Given the description of an element on the screen output the (x, y) to click on. 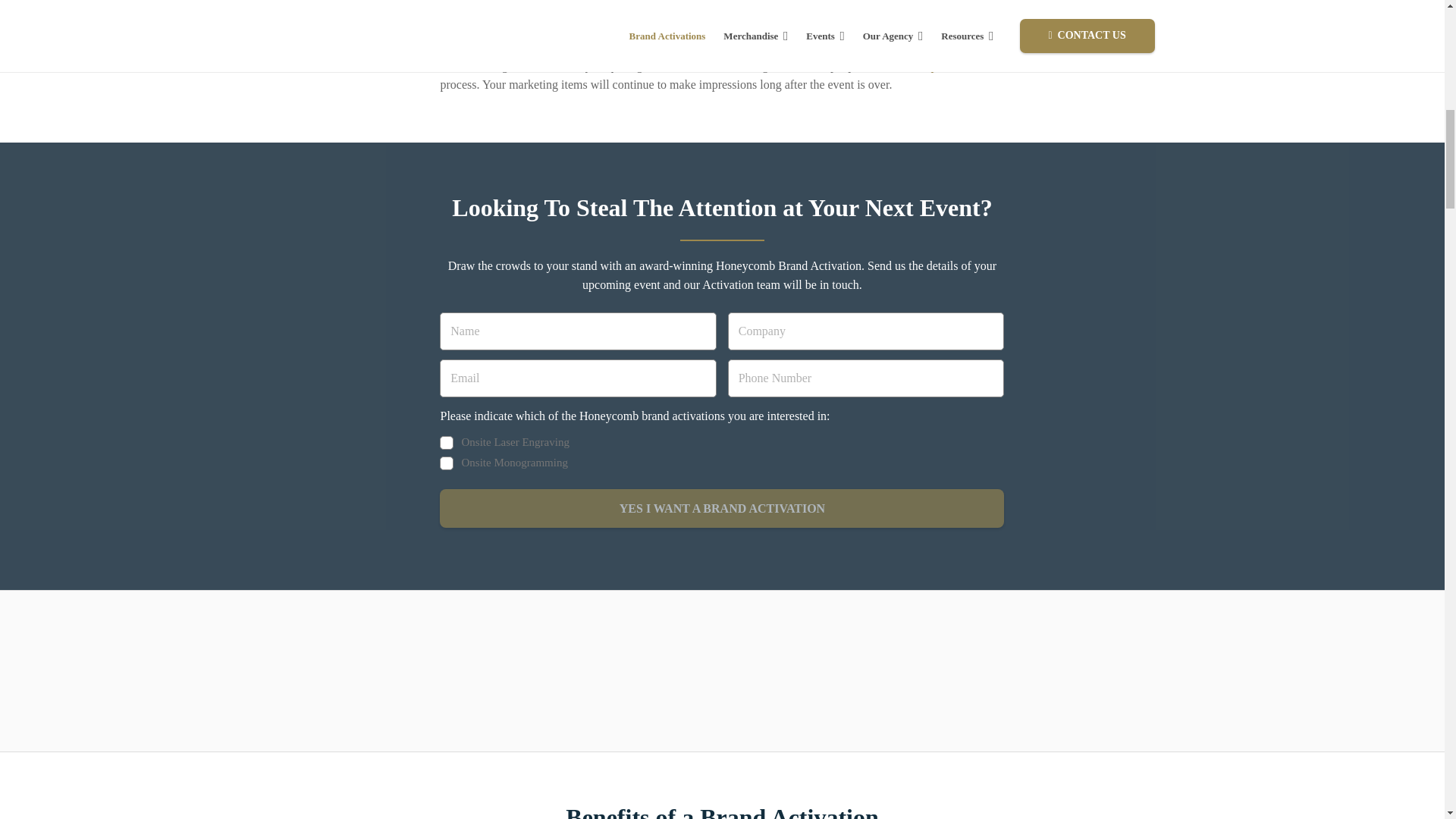
Onsite Laser Engraving (445, 442)
personalisation (967, 65)
Onsite Monogramming (445, 463)
Yes I want a brand activation (721, 507)
Yes I want a brand activation (721, 507)
Back to top (30, 26)
